Given the description of an element on the screen output the (x, y) to click on. 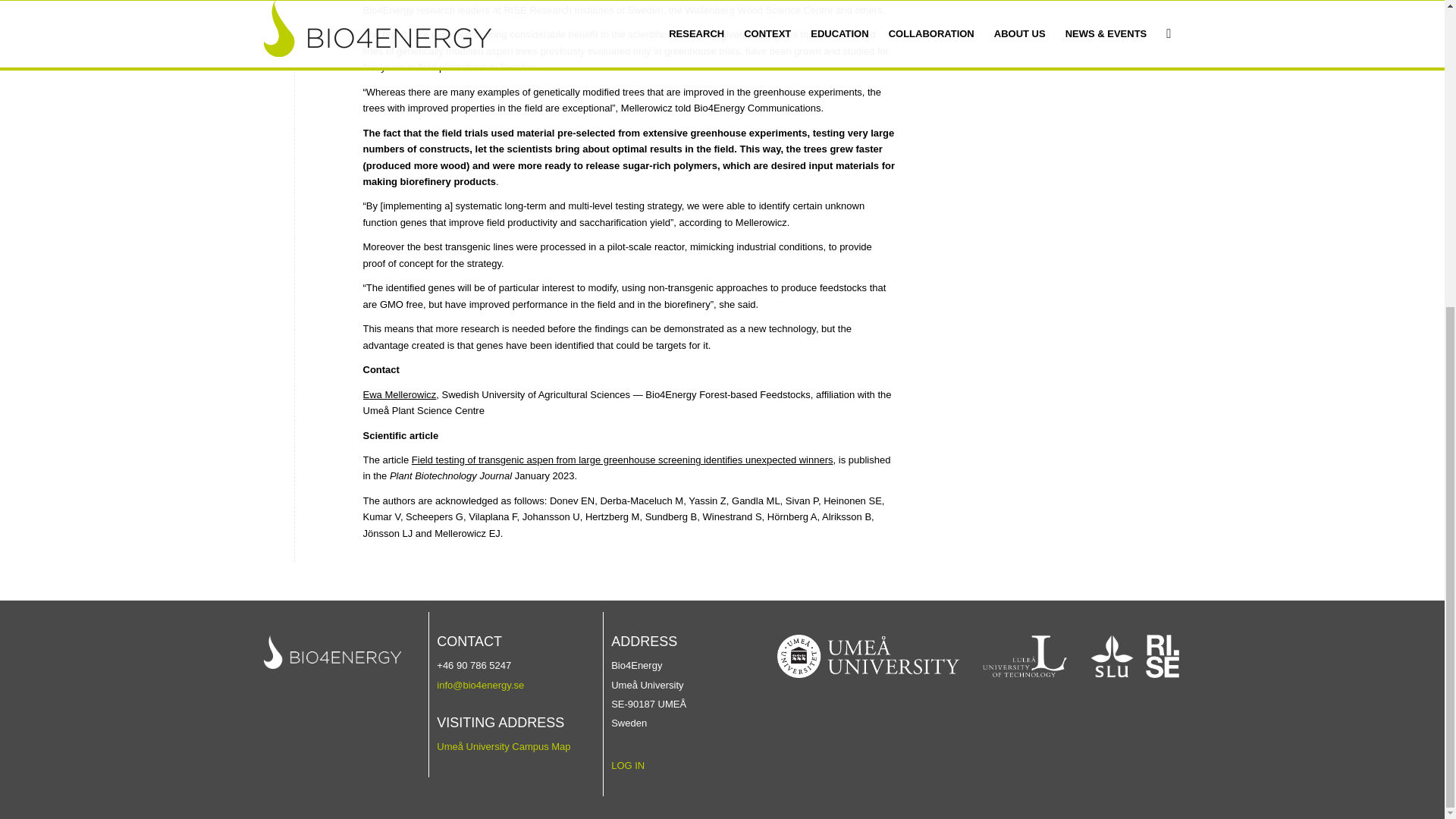
umu-logo-left-neg-EN-1-1 (868, 656)
Ewa Mellerowicz (398, 394)
